Given the description of an element on the screen output the (x, y) to click on. 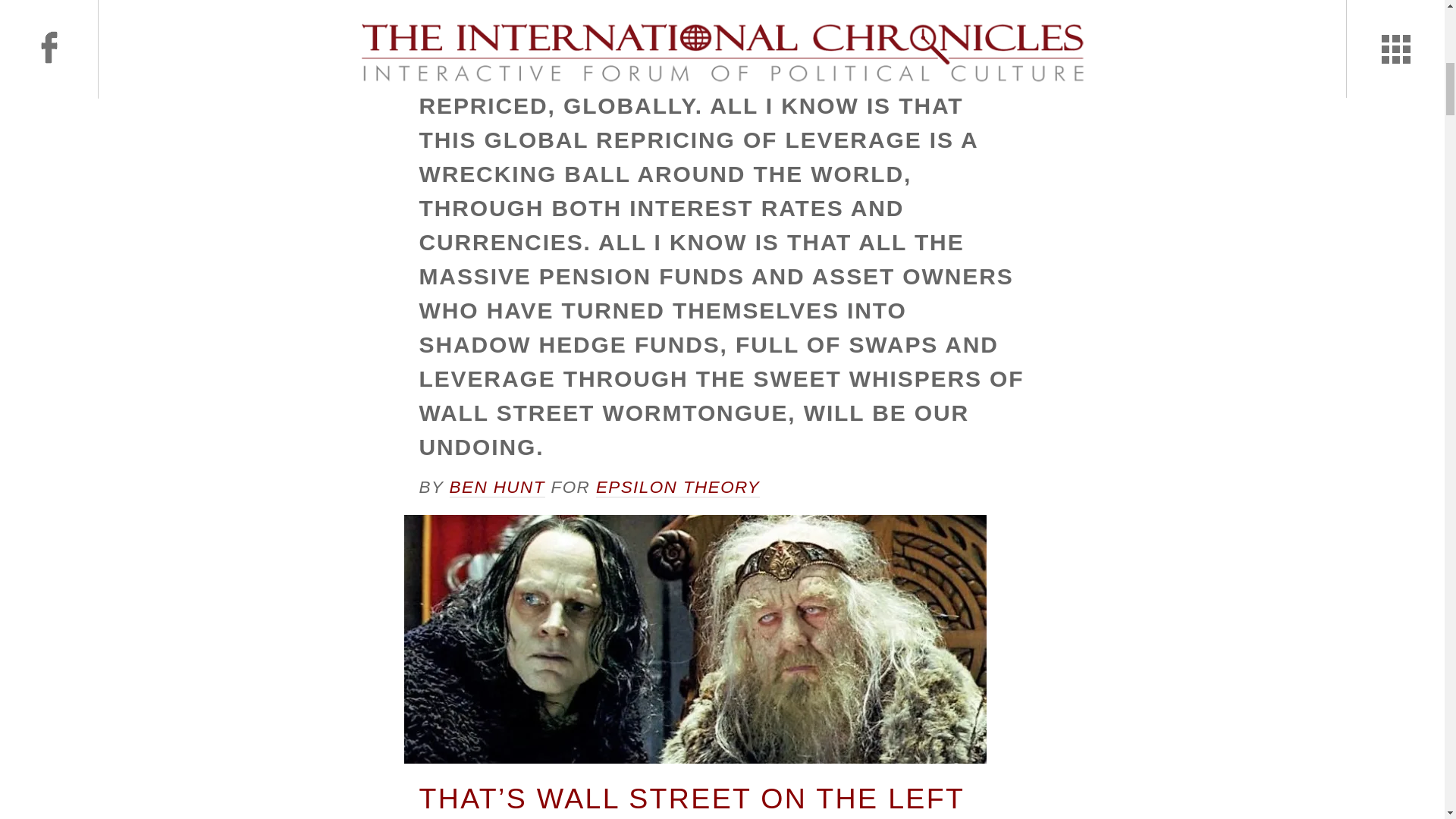
BEN HUNT (496, 487)
EPSILON THEORY (677, 487)
